Given the description of an element on the screen output the (x, y) to click on. 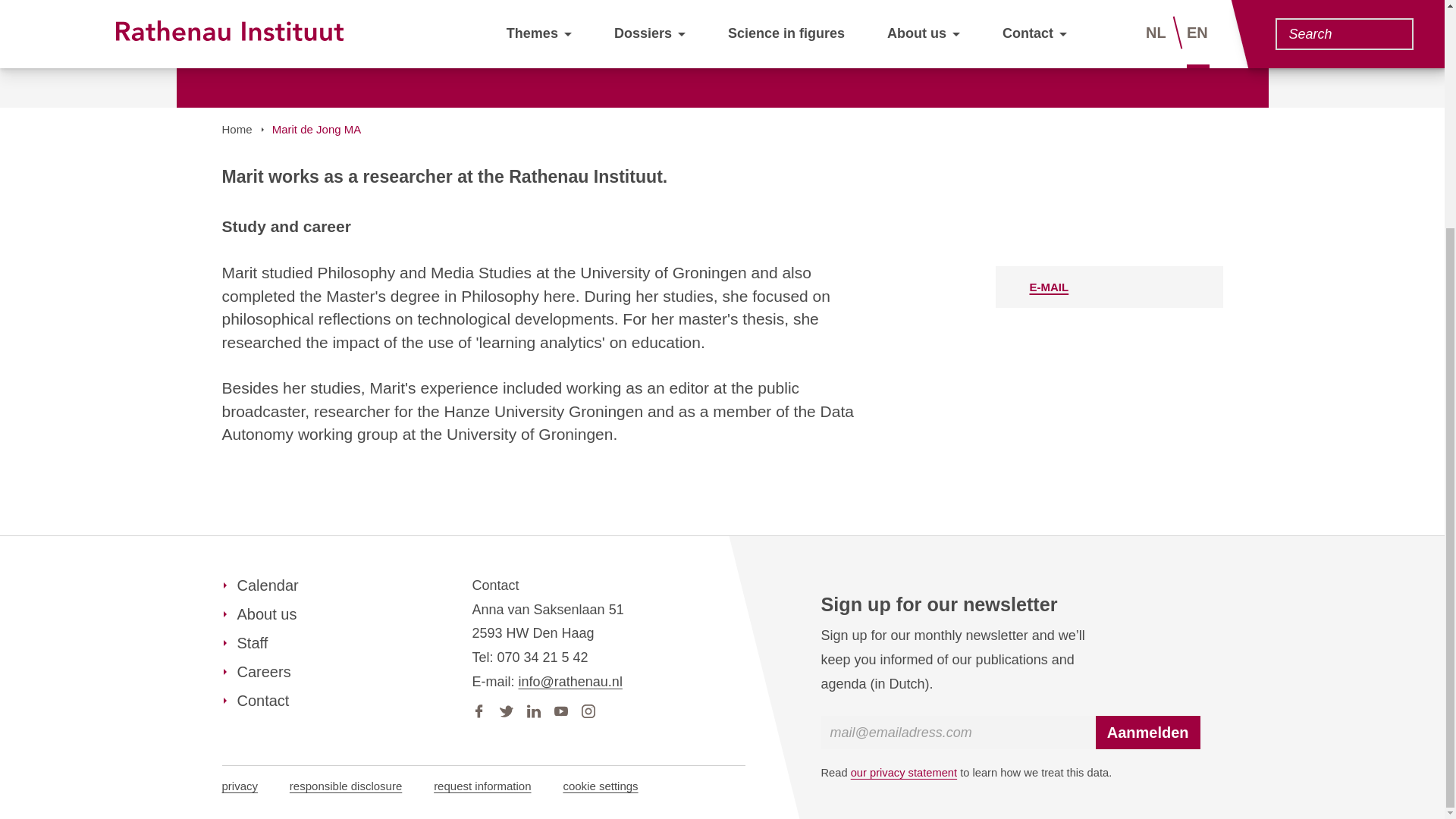
Home (236, 128)
Rathenau Twitter (505, 708)
Contact (254, 700)
Rathenau Instagram (587, 708)
Rathenau Facebook (477, 708)
Rathenau LinkedIn (532, 708)
privacy (239, 785)
About us (259, 613)
Rathenau Youtube (560, 708)
Staff (244, 642)
